Given the description of an element on the screen output the (x, y) to click on. 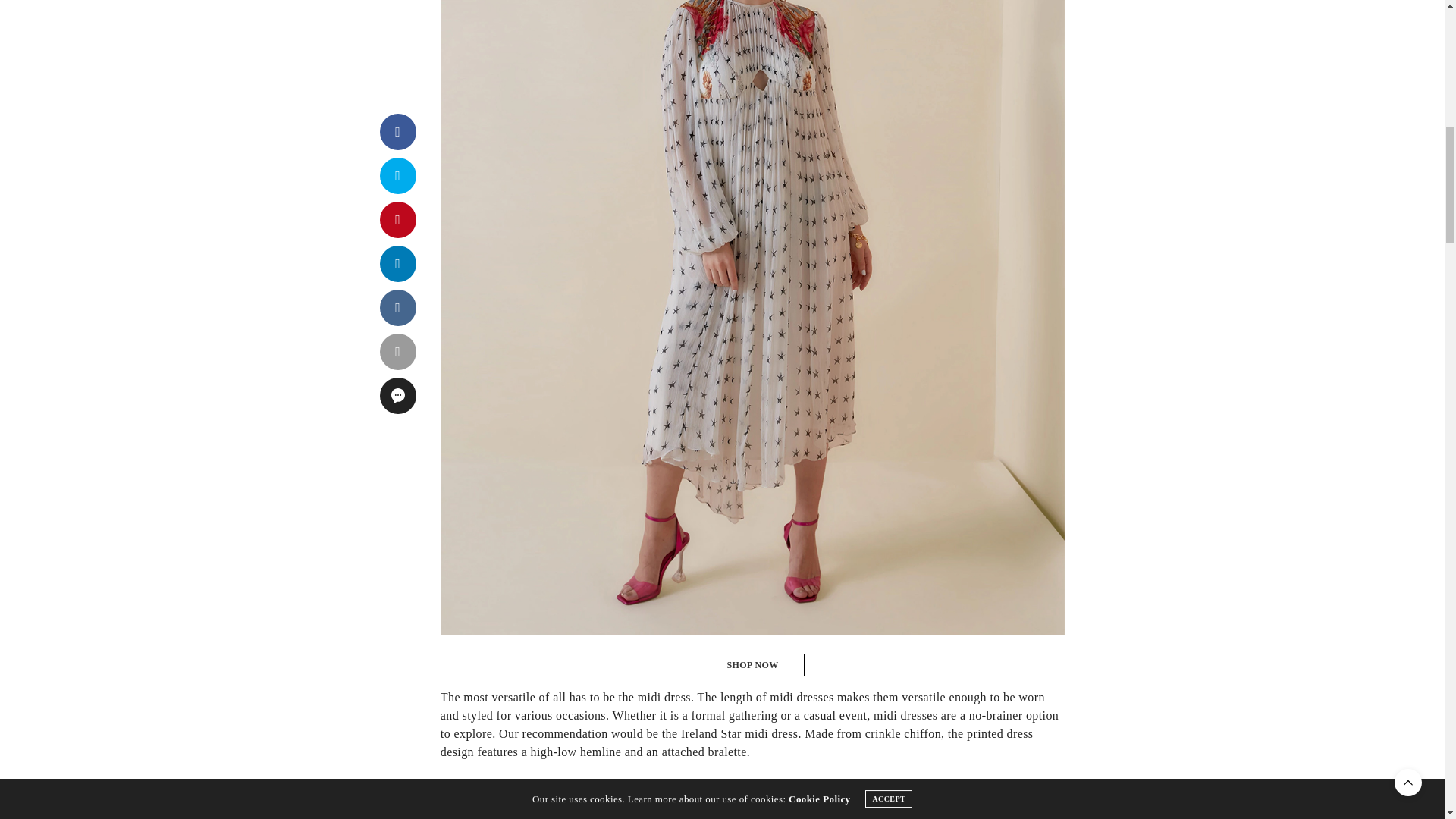
SHOP NOW (751, 664)
